Given the description of an element on the screen output the (x, y) to click on. 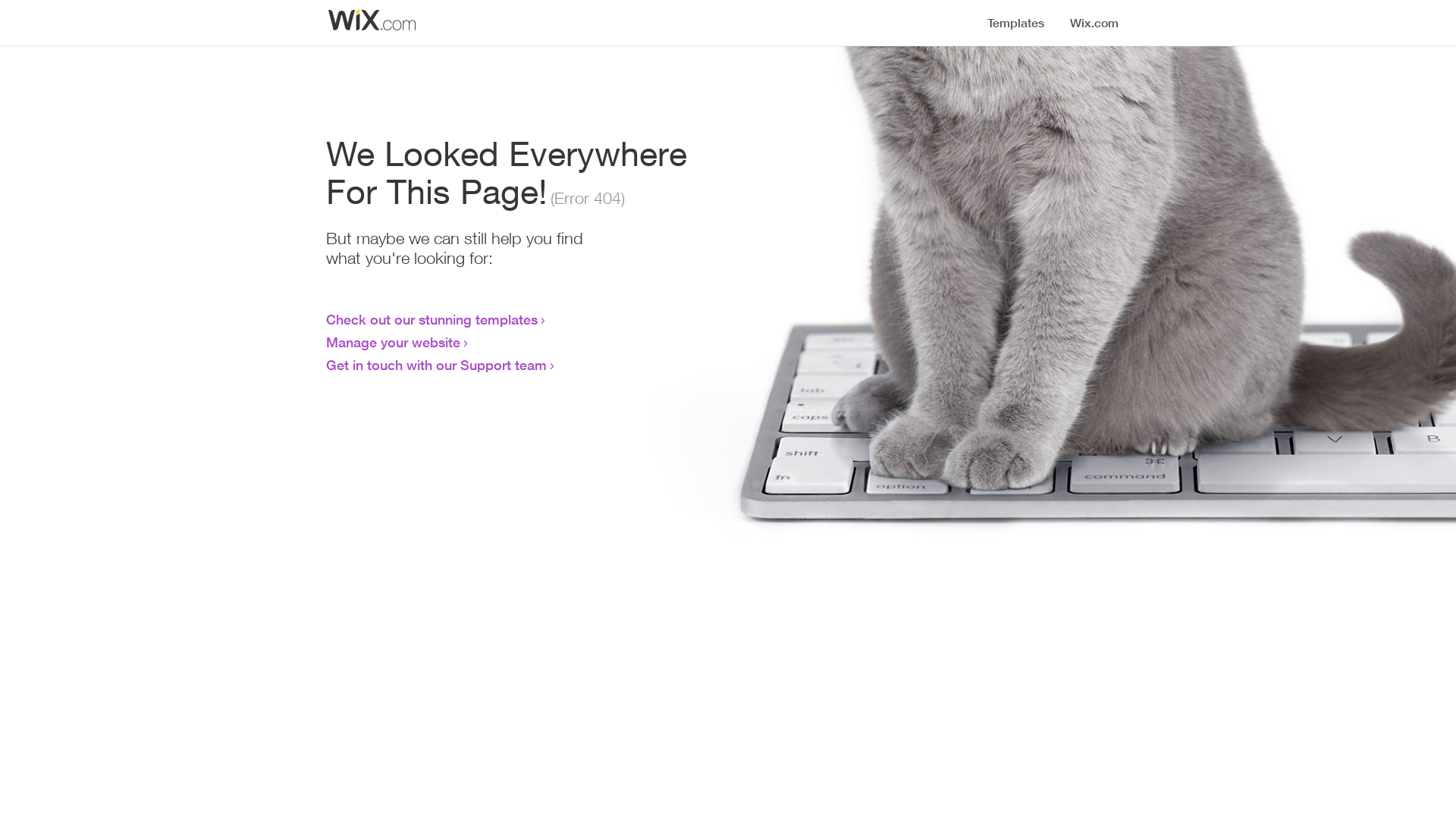
Check out our stunning templates Element type: text (431, 318)
Get in touch with our Support team Element type: text (436, 364)
Manage your website Element type: text (393, 341)
